Given the description of an element on the screen output the (x, y) to click on. 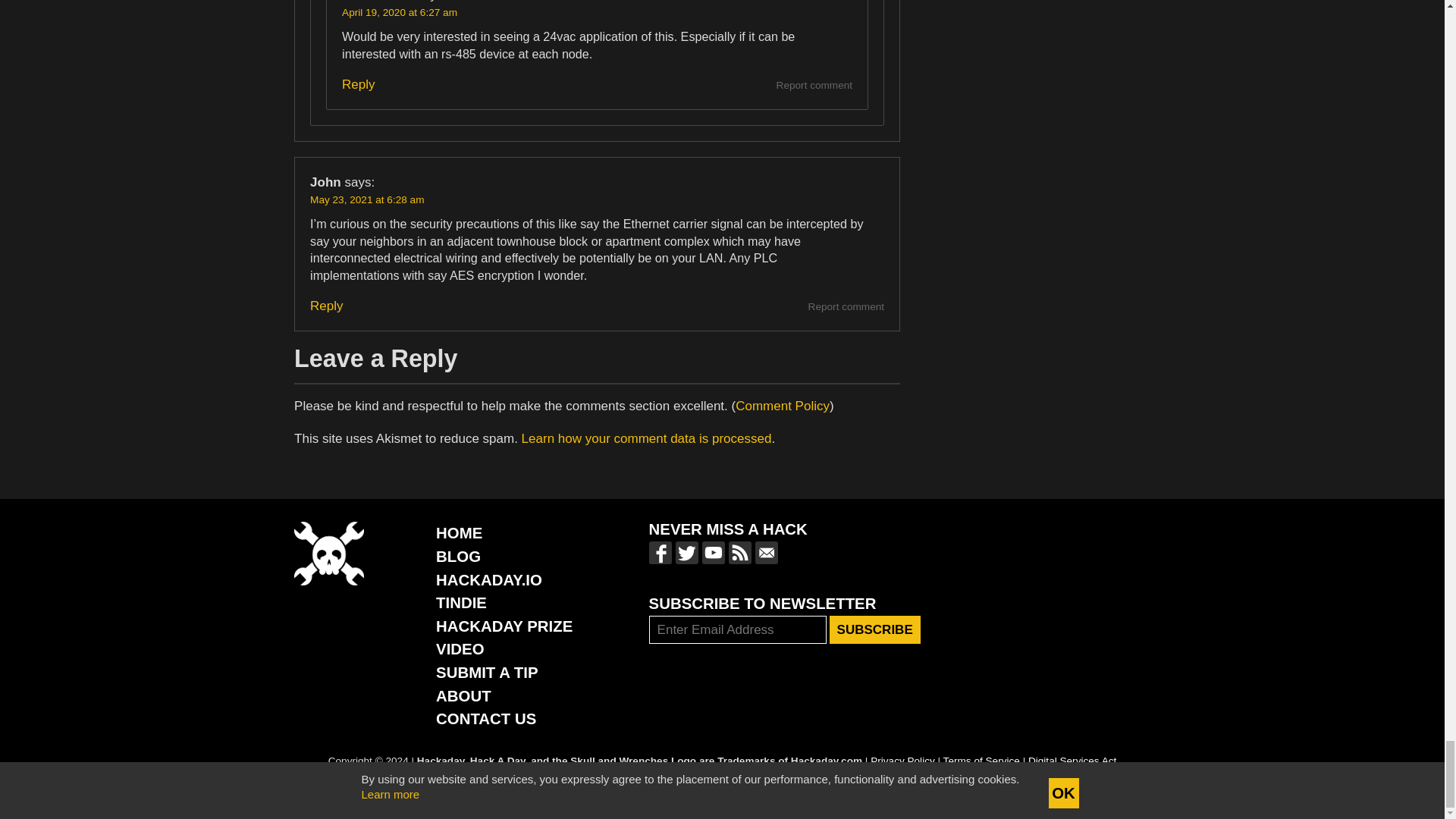
Build Something that Matters (503, 626)
Subscribe (874, 629)
